Given the description of an element on the screen output the (x, y) to click on. 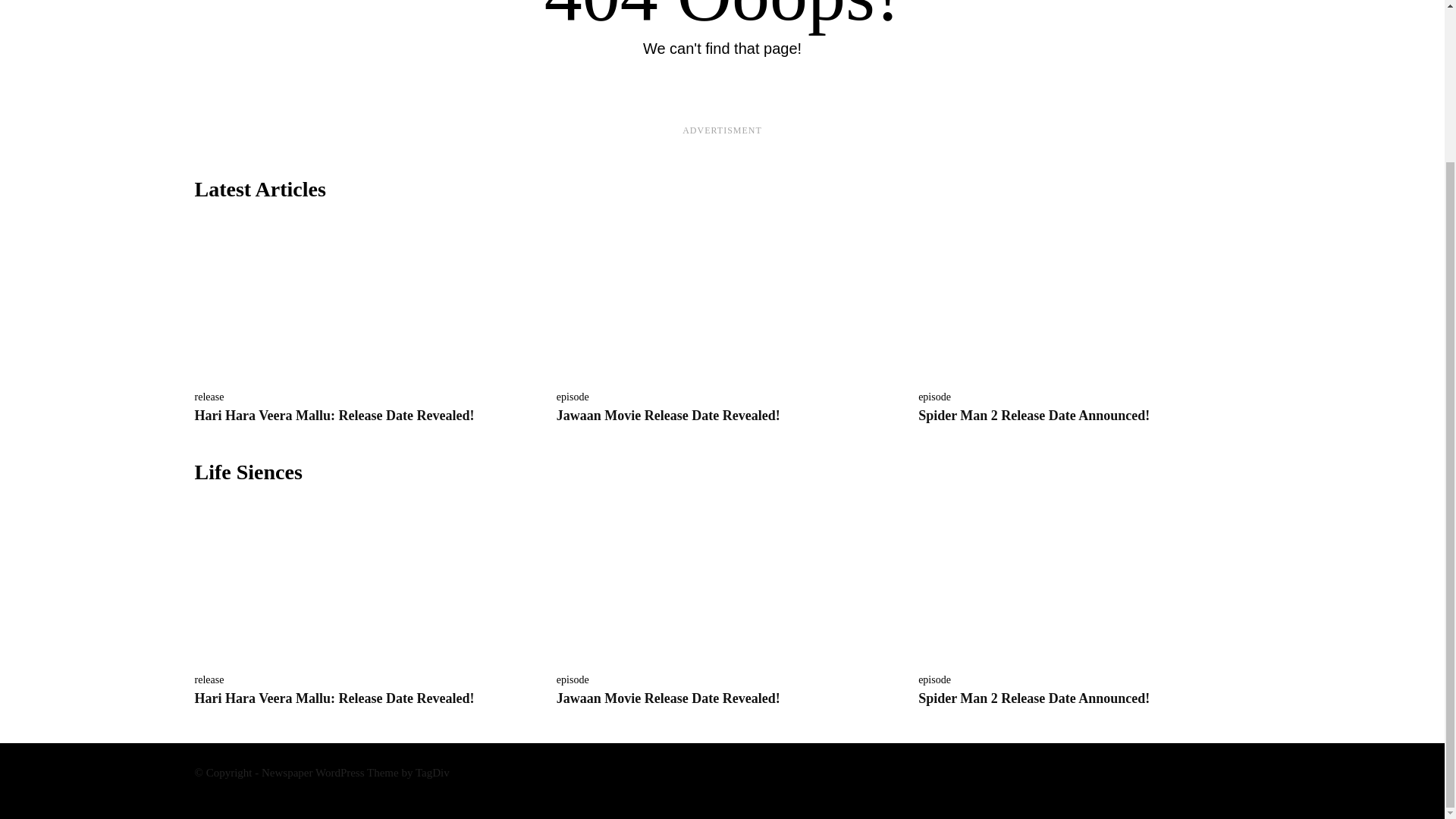
Spider Man 2 Release Date Announced! (1083, 299)
Spider Man 2 Release Date Announced! (1083, 581)
Hari Hara Veera Mallu: Release Date Revealed! (359, 299)
Hari Hara Veera Mallu: Release Date Revealed! (333, 698)
release (208, 397)
Hari Hara Veera Mallu: Release Date Revealed! (333, 415)
Hari Hara Veera Mallu: Release Date Revealed! (333, 415)
Jawaan Movie Release Date Revealed! (668, 415)
Jawaan Movie Release Date Revealed! (722, 581)
Hari Hara Veera Mallu: Release Date Revealed! (359, 581)
